Given the description of an element on the screen output the (x, y) to click on. 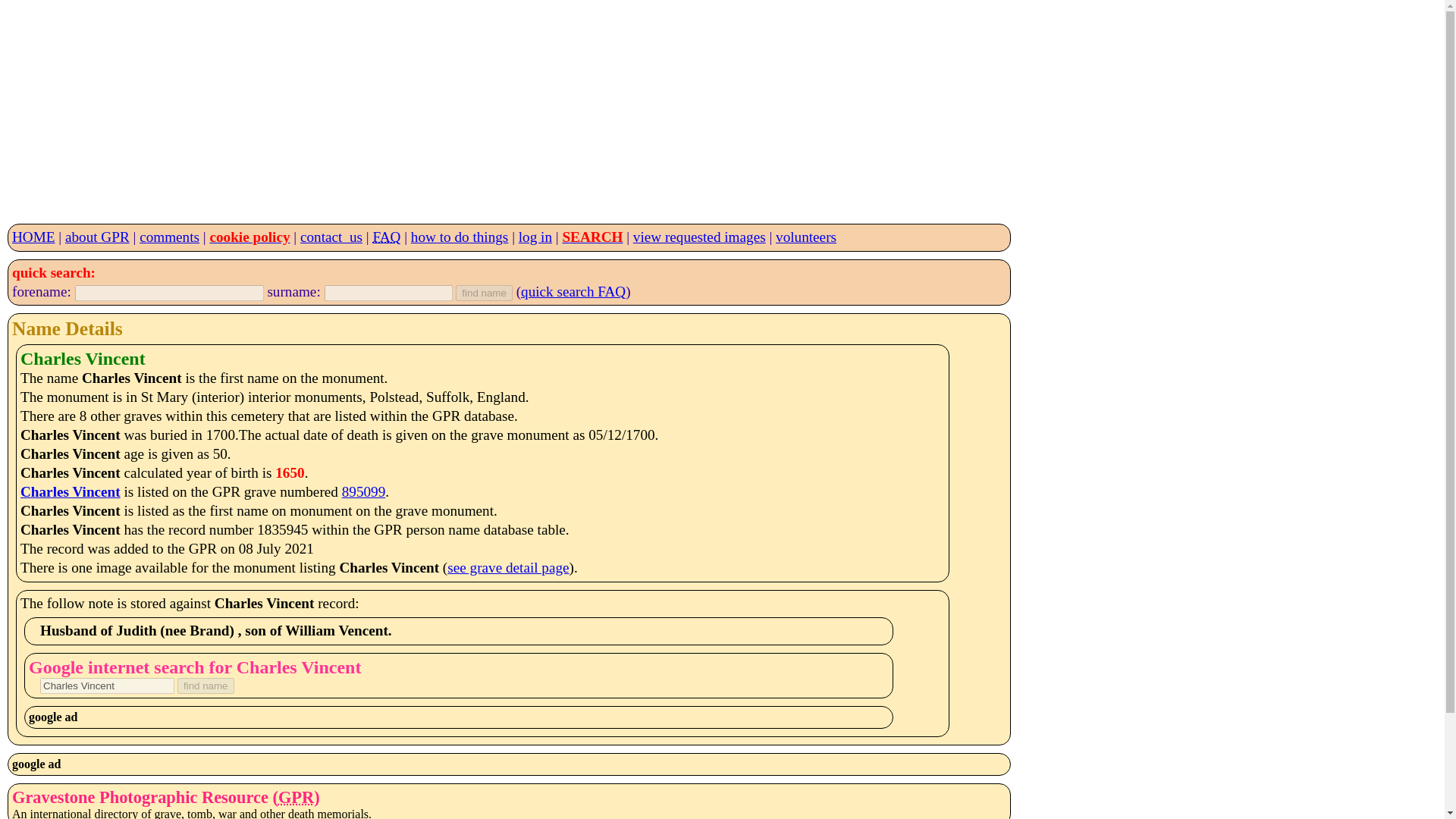
about GPR (97, 236)
find name (205, 685)
Charles Vincent (70, 491)
find name (483, 293)
cookie policy (249, 236)
FAQ (386, 236)
find name (483, 293)
Charles Vincent (107, 685)
SEARCH (592, 236)
see grave detail page (507, 567)
comments (169, 236)
log in (534, 236)
find name (205, 685)
Gravestone Photographic Resource (296, 796)
volunteers (805, 236)
